Given the description of an element on the screen output the (x, y) to click on. 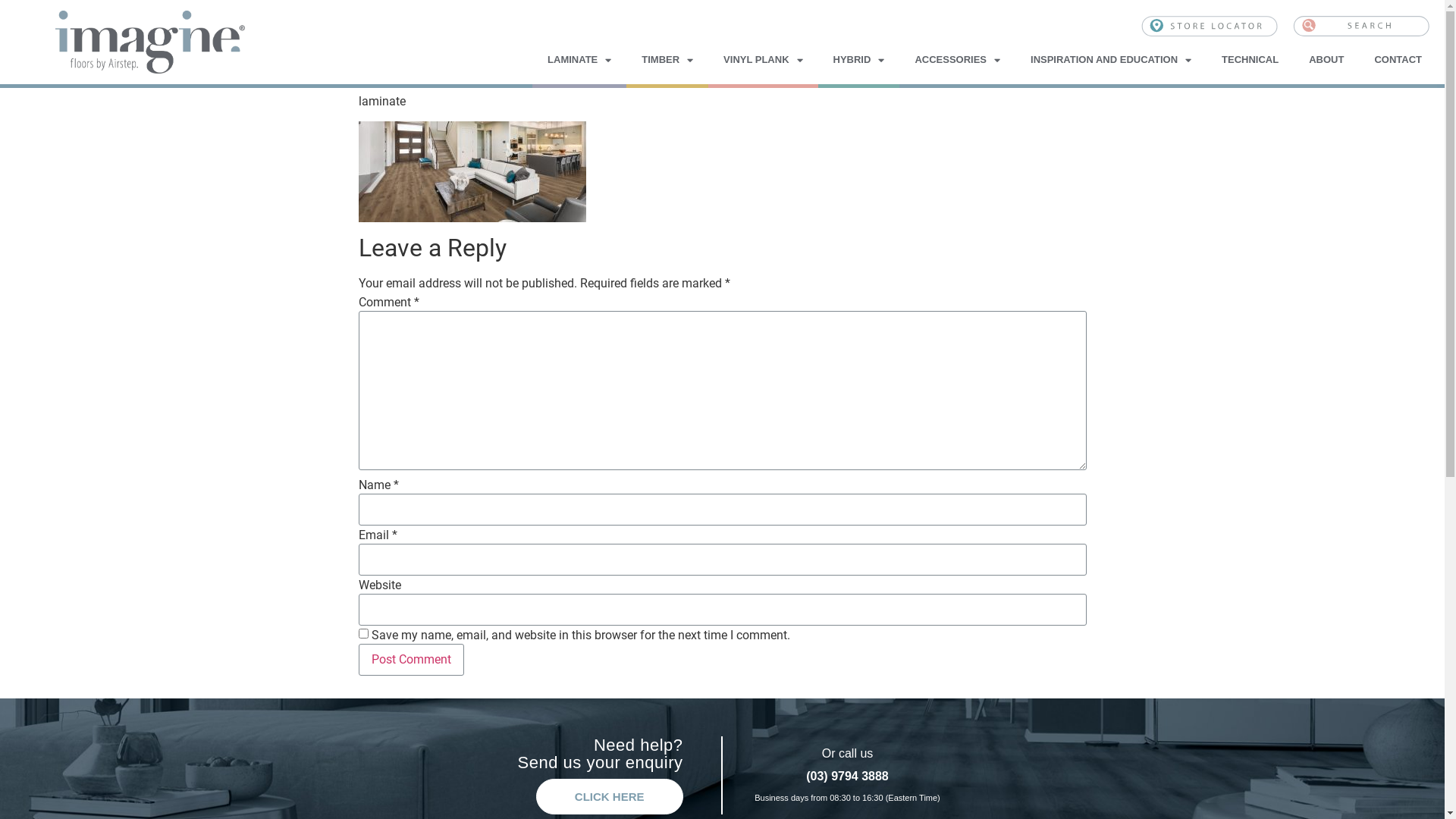
LAMINATE Element type: text (579, 59)
VINYL PLANK Element type: text (762, 59)
TIMBER Element type: text (667, 59)
(03) 9794 3888 Element type: text (847, 775)
INSPIRATION AND EDUCATION Element type: text (1110, 59)
CLICK HERE Element type: text (609, 796)
HYBRID Element type: text (859, 59)
ABOUT Element type: text (1325, 59)
Post Comment Element type: text (410, 659)
ACCESSORIES Element type: text (957, 59)
TECHNICAL Element type: text (1249, 59)
CONTACT Element type: text (1397, 59)
